Given the description of an element on the screen output the (x, y) to click on. 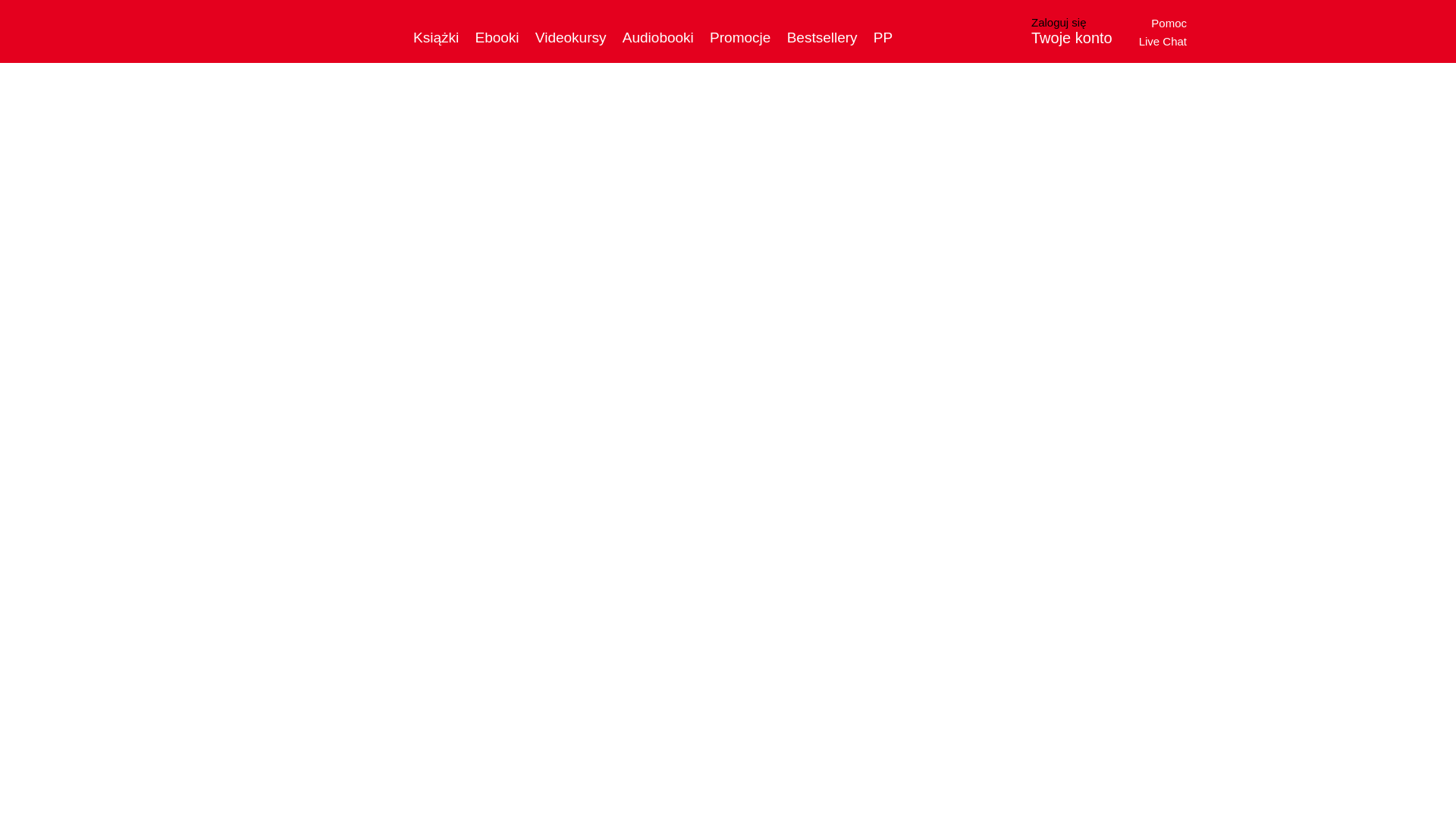
PP (882, 37)
Promocje (740, 37)
Program Partnerski (882, 37)
HELION (330, 31)
Bestsellery (822, 37)
Videokursy (571, 37)
Audiobooki (658, 37)
Ebooki (496, 37)
